Given the description of an element on the screen output the (x, y) to click on. 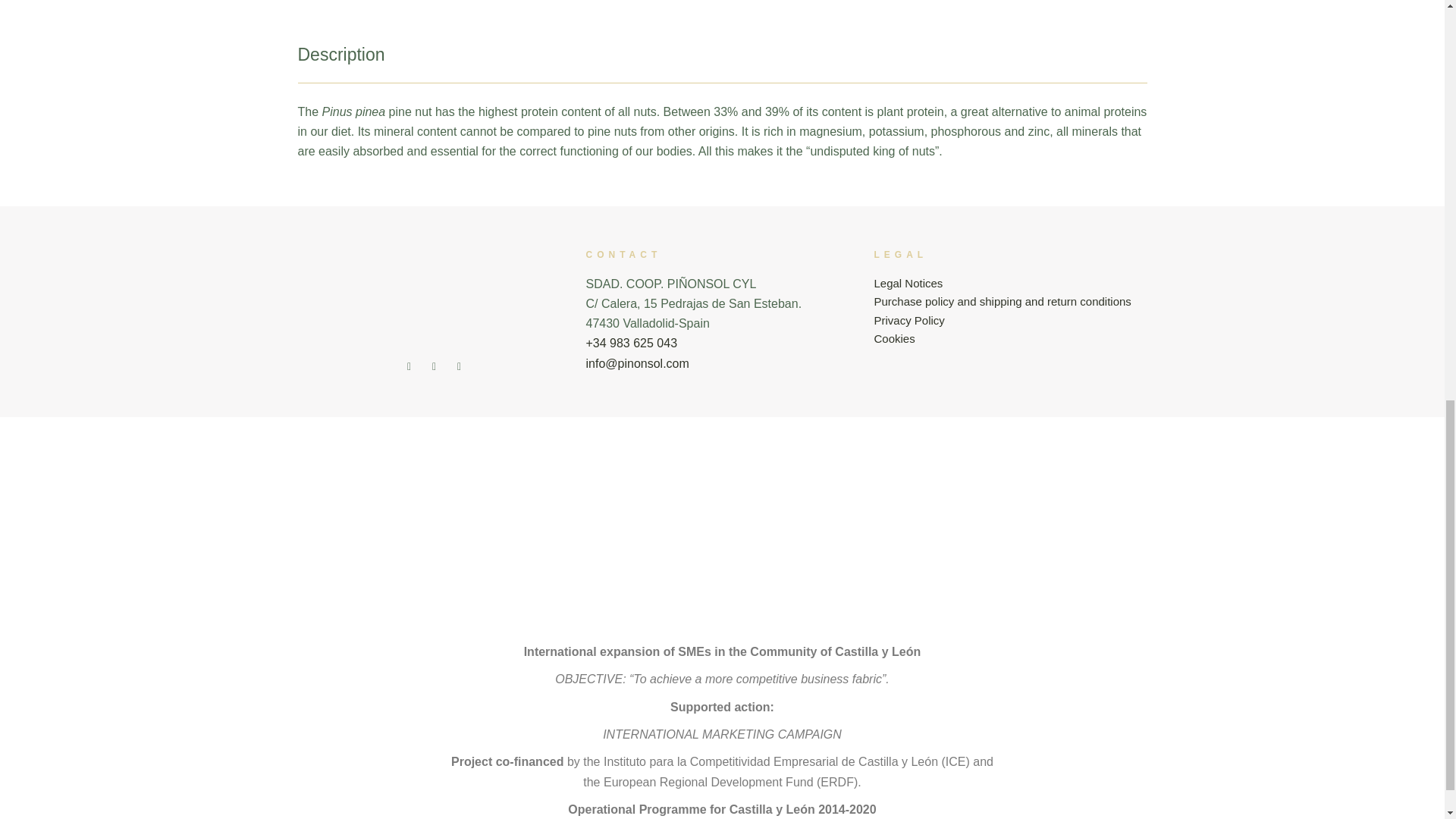
Privacy Policy (908, 319)
Cookies (893, 338)
Legal Notices (907, 282)
Purchase policy and shipping and return conditions (1002, 300)
